Given the description of an element on the screen output the (x, y) to click on. 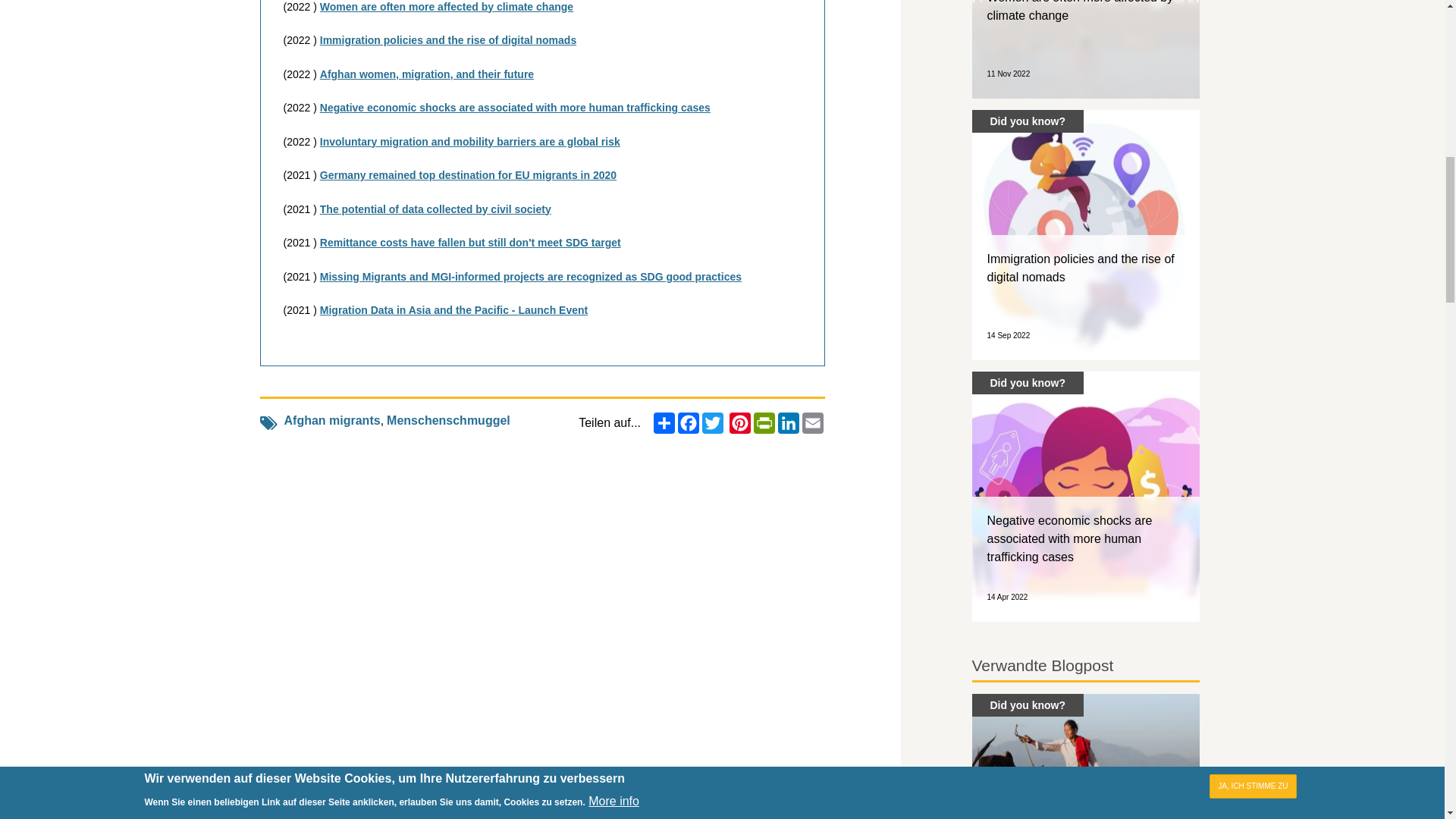
blog-dyk-md (1085, 756)
blog-dyk-md (1085, 49)
blog-image-thumbnail (1085, 234)
